Given the description of an element on the screen output the (x, y) to click on. 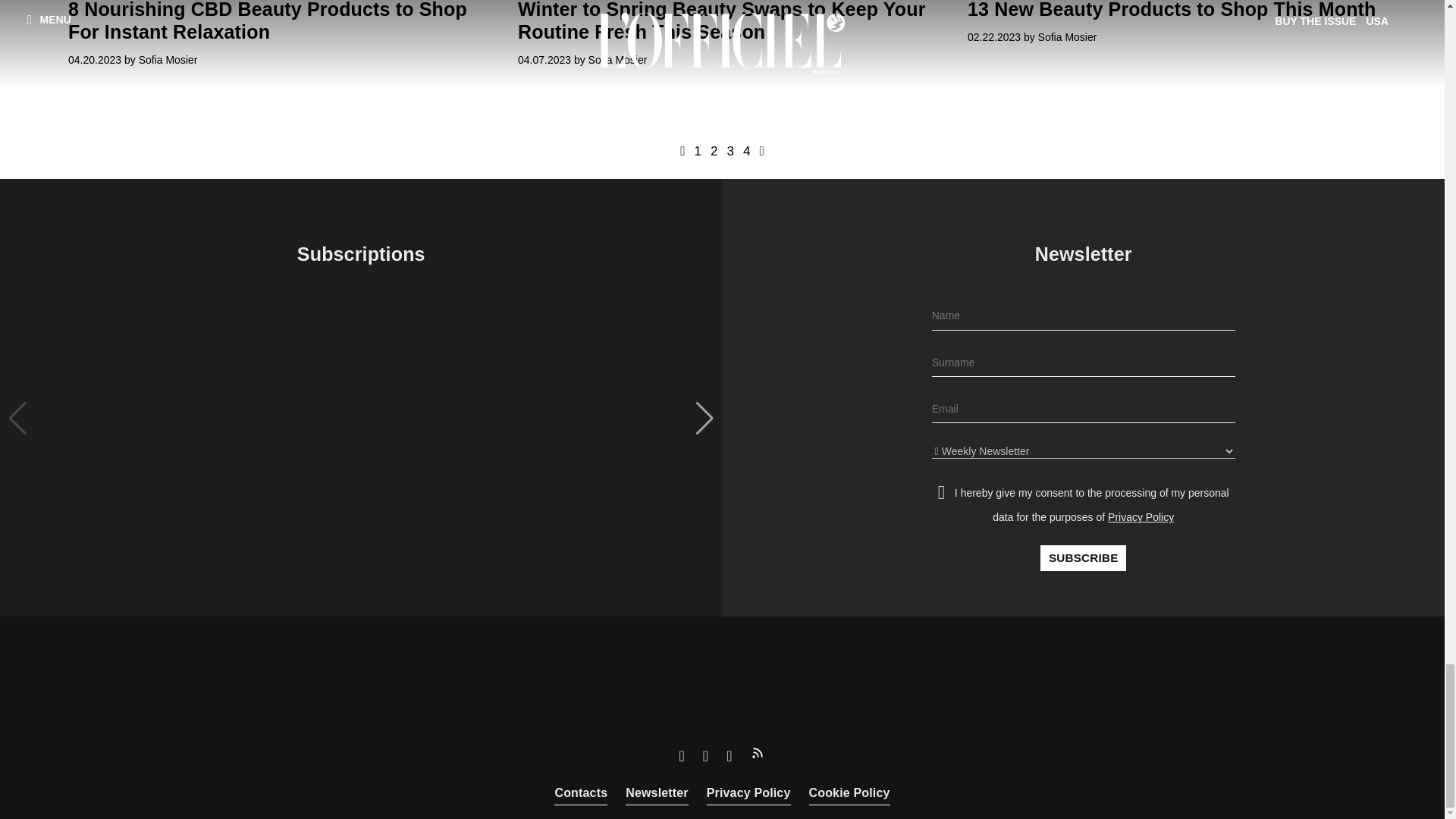
Privacy Policy (748, 793)
Subscribe (1083, 557)
Cookie Policy (848, 793)
